Given the description of an element on the screen output the (x, y) to click on. 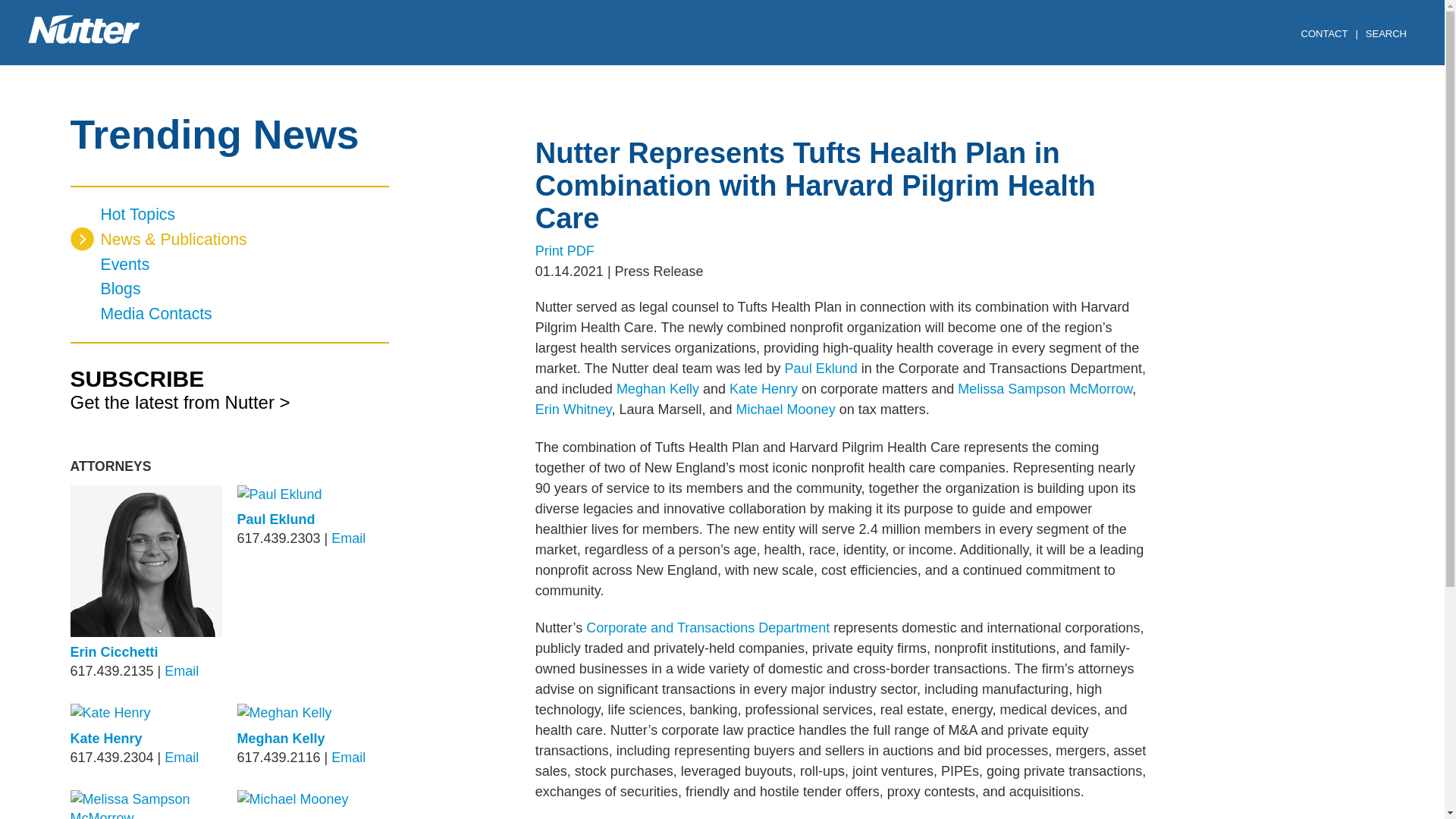
Email (181, 670)
Blogs (228, 289)
Erin Cicchetti (113, 652)
Corporate and Transactions Department (707, 627)
Hot Topics (228, 214)
Michael Mooney (785, 409)
Melissa Sampson McMorrow (1045, 388)
Paul Eklund (274, 519)
Events (228, 264)
SEARCH (1388, 35)
